Given the description of an element on the screen output the (x, y) to click on. 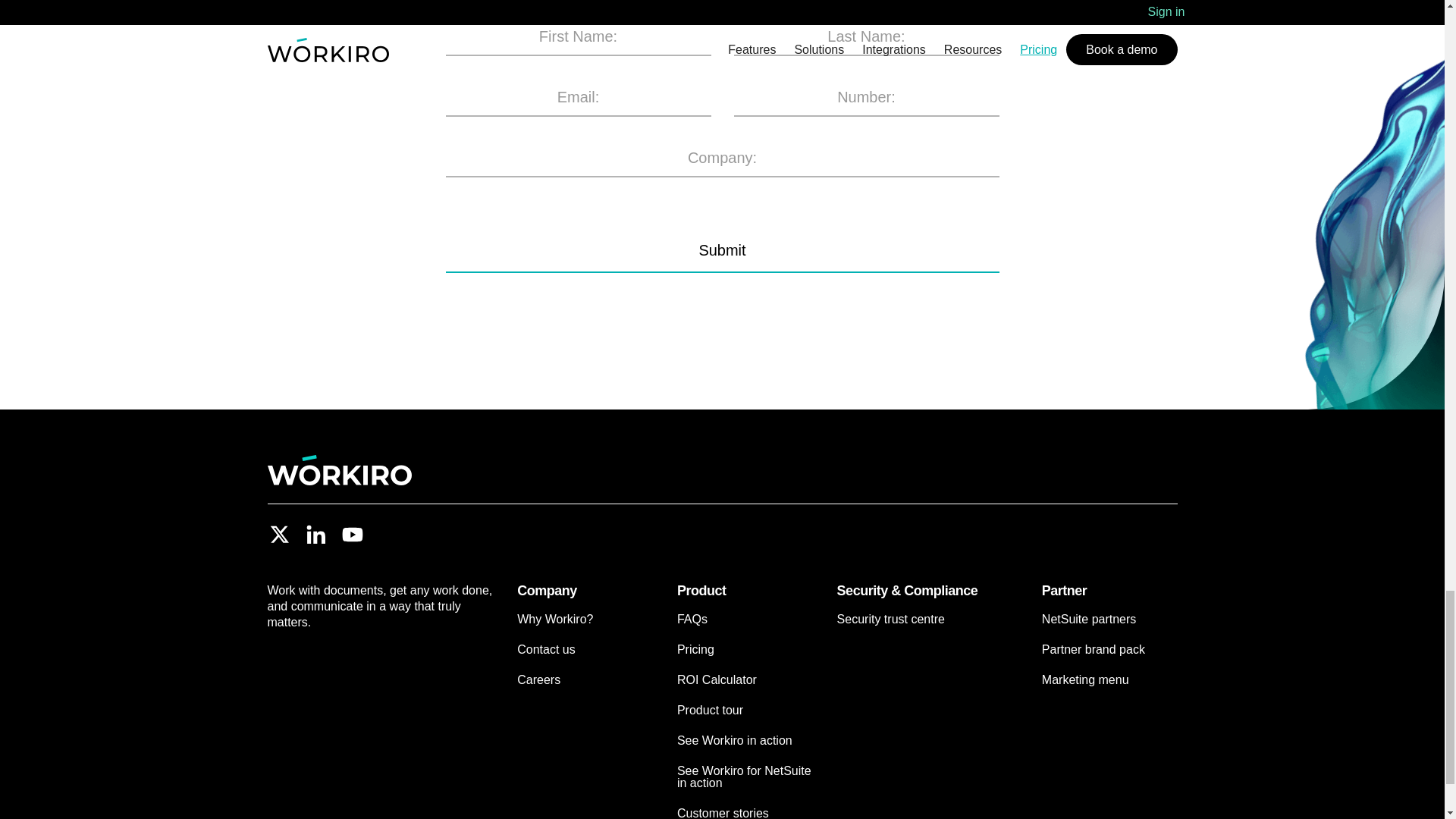
Submit (721, 250)
